Given the description of an element on the screen output the (x, y) to click on. 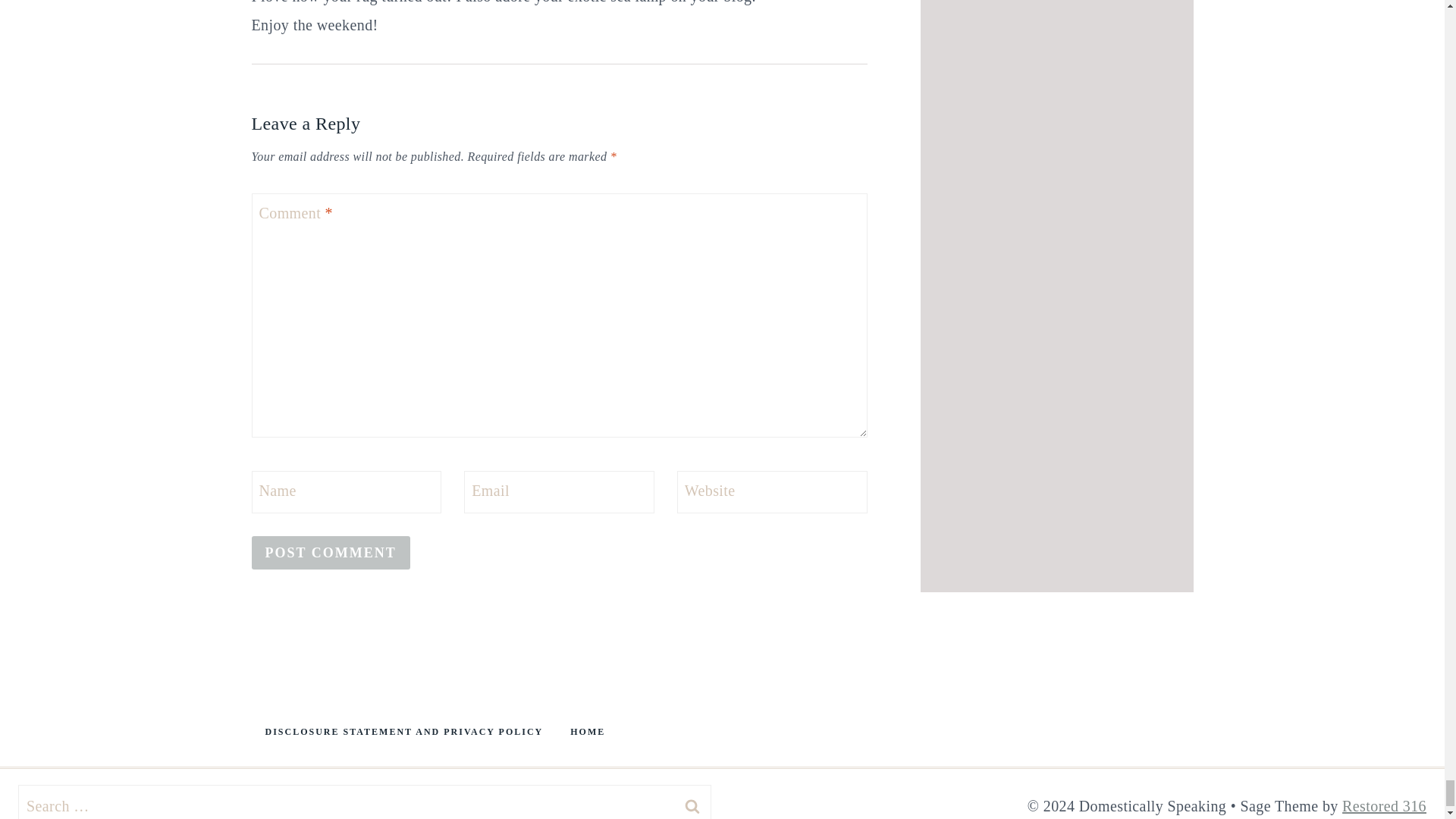
Search (691, 801)
Search (691, 801)
Post Comment (330, 552)
